Given the description of an element on the screen output the (x, y) to click on. 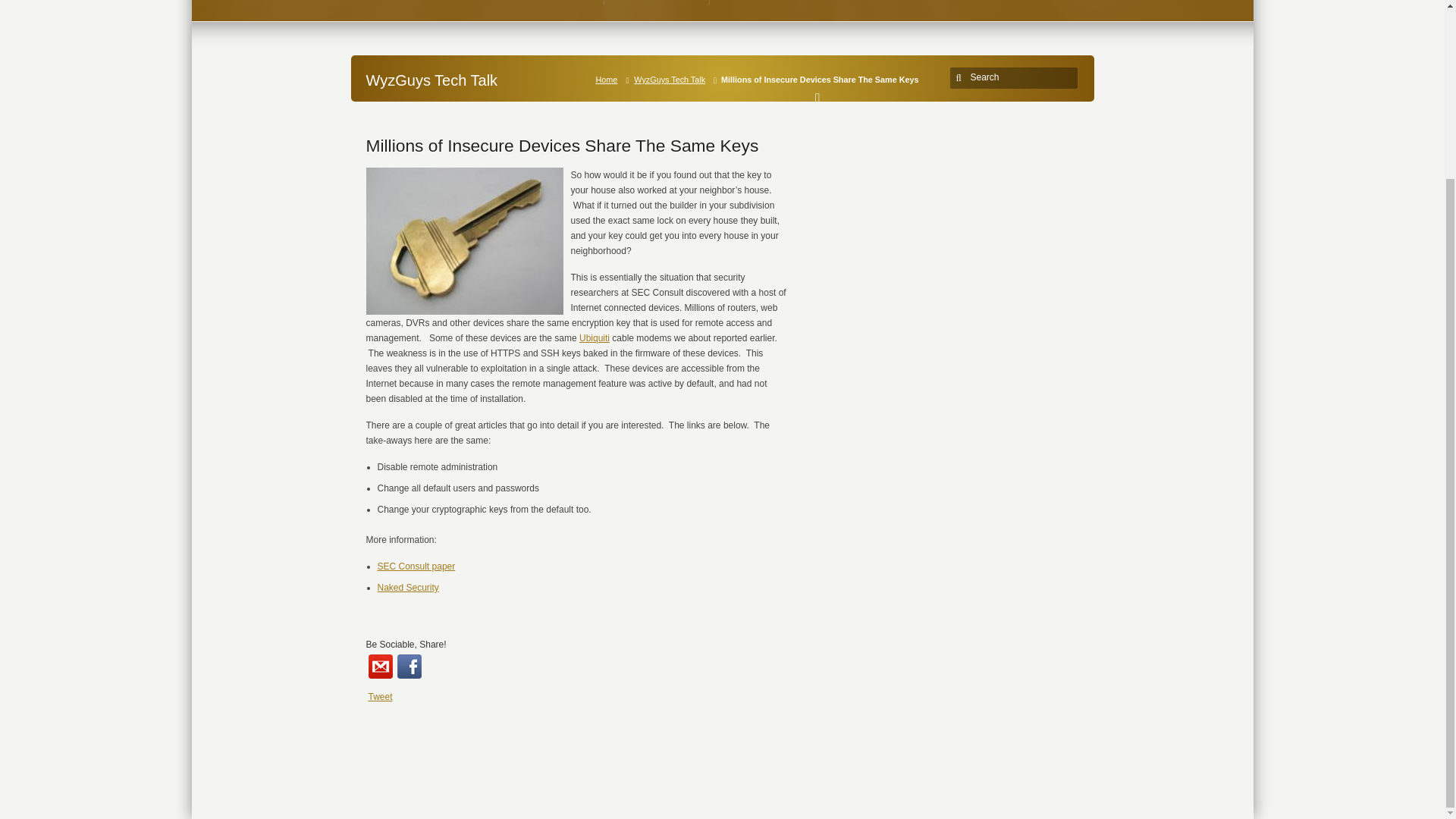
WyzGuys Tech Talk (672, 79)
Millions of Insecure Devices Share The Same Keys (561, 145)
Millions of Insecure Devices Share The Same Keys (561, 145)
Search (1016, 77)
Naked Security (408, 587)
Ubiquiti (594, 337)
Be Sociable, Share! (405, 644)
email (380, 666)
Facebook (409, 666)
Home (609, 79)
